Given the description of an element on the screen output the (x, y) to click on. 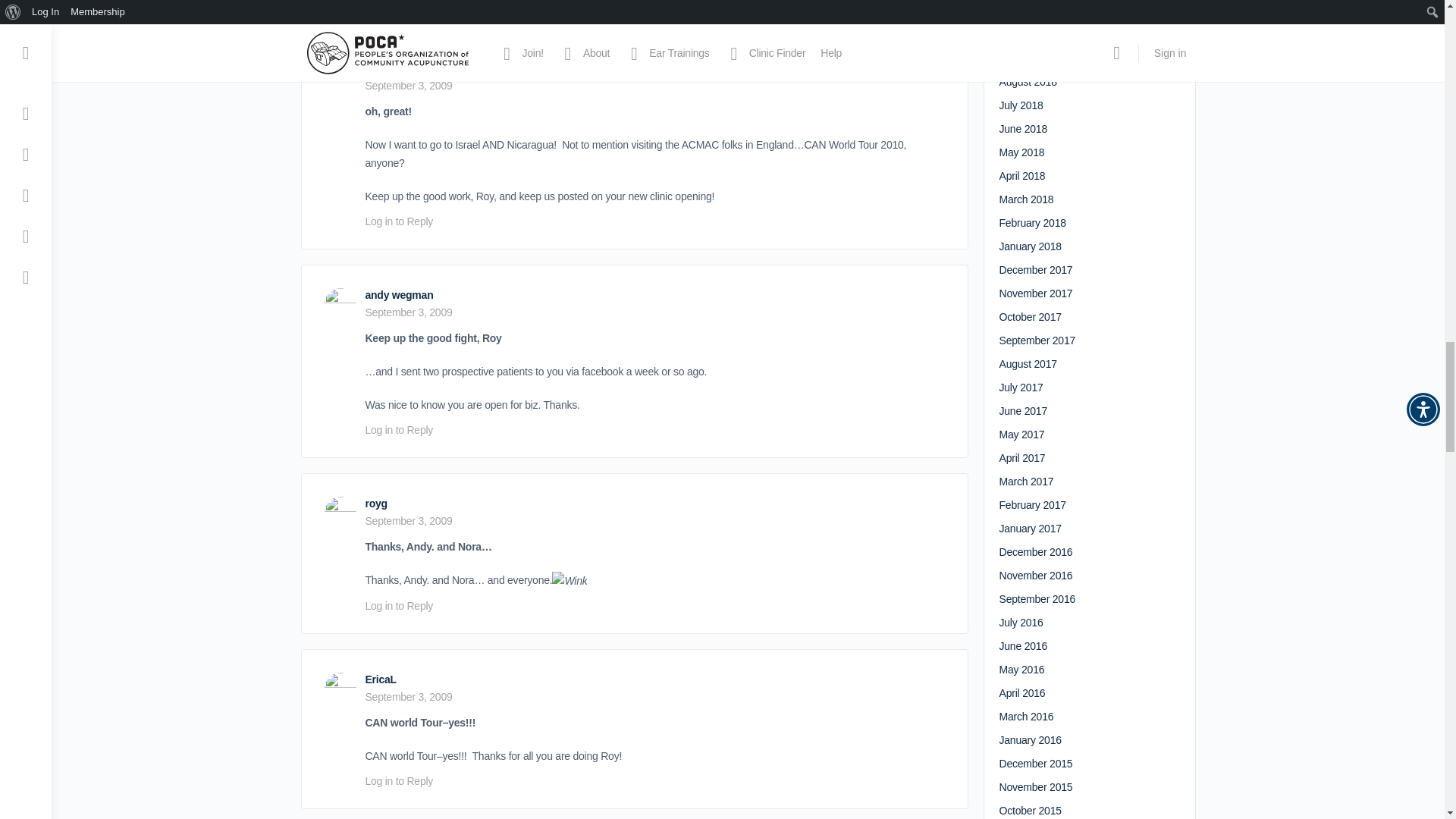
Wink (568, 580)
